Given the description of an element on the screen output the (x, y) to click on. 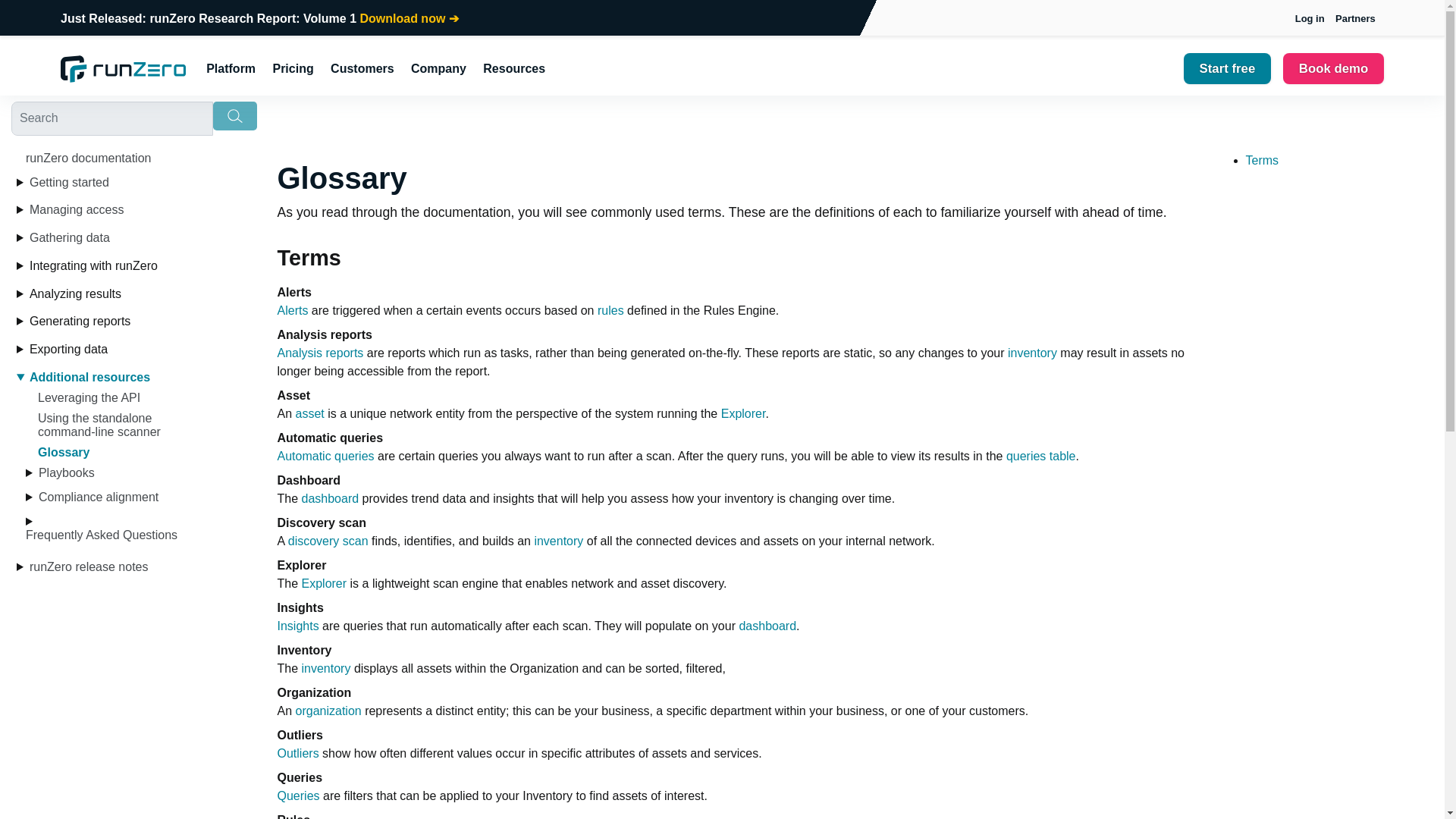
Customers (362, 68)
Company (438, 68)
Start free (1227, 68)
Book demo (1333, 68)
Partners (1355, 18)
Resources (513, 68)
Platform (230, 68)
Book a demo (1333, 68)
Log in (1309, 18)
Start free (1227, 68)
